Given the description of an element on the screen output the (x, y) to click on. 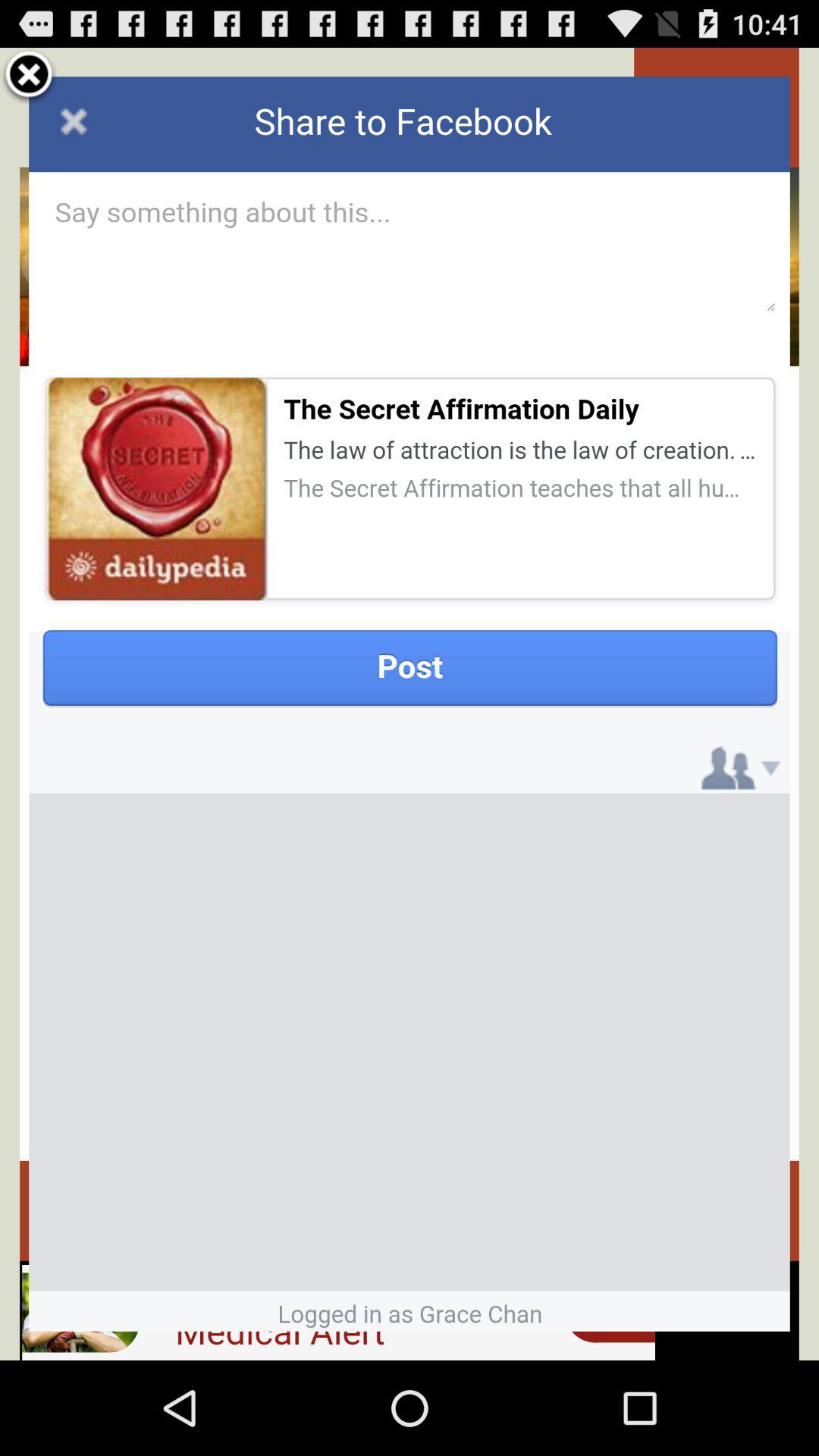
close option (29, 76)
